Given the description of an element on the screen output the (x, y) to click on. 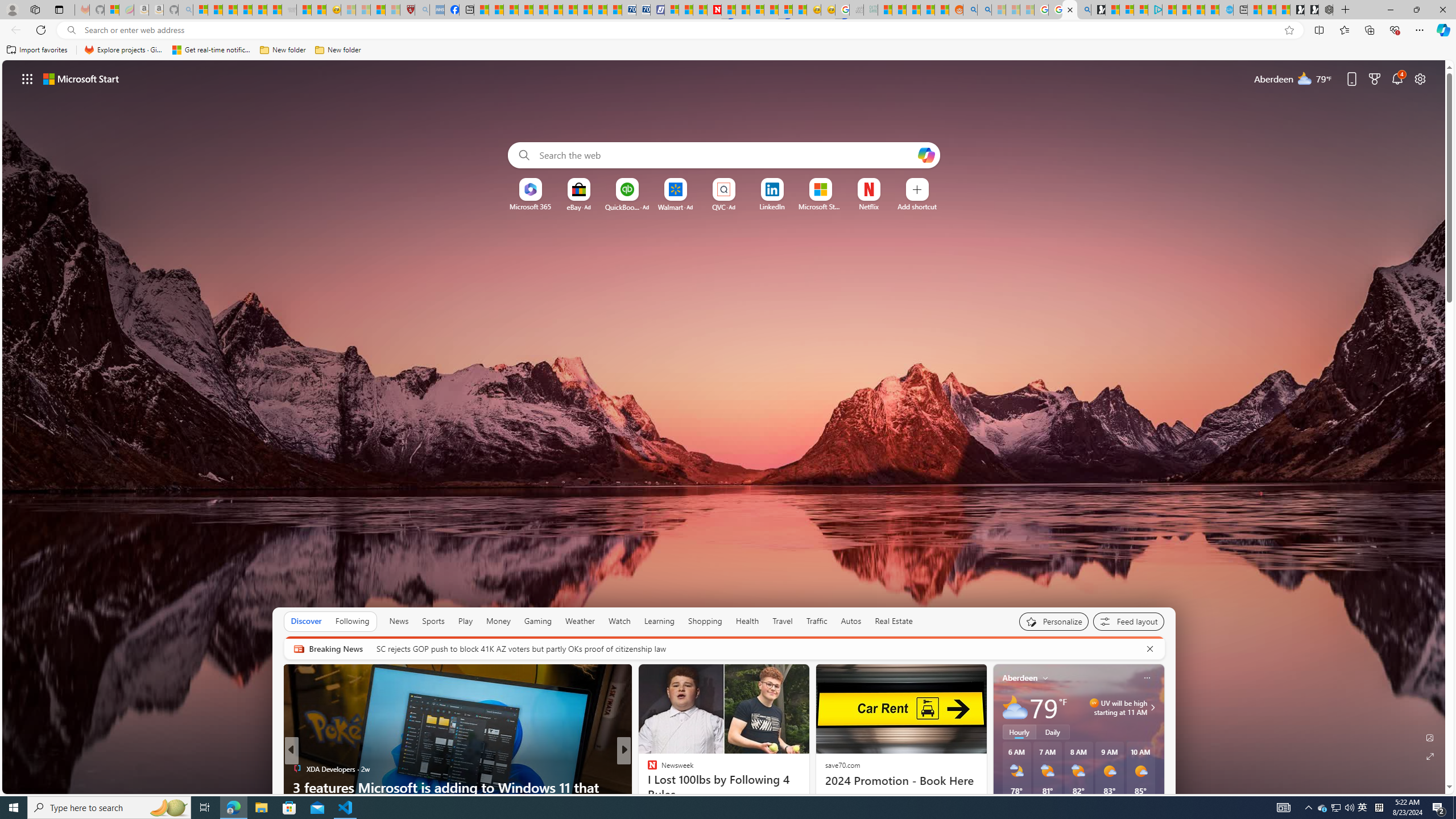
LinkedIn (771, 206)
Money (498, 621)
HowToGeek (647, 786)
The Weather Channel - MSN (229, 9)
Traffic (816, 621)
Autos (851, 621)
Page settings (1420, 78)
